Given the description of an element on the screen output the (x, y) to click on. 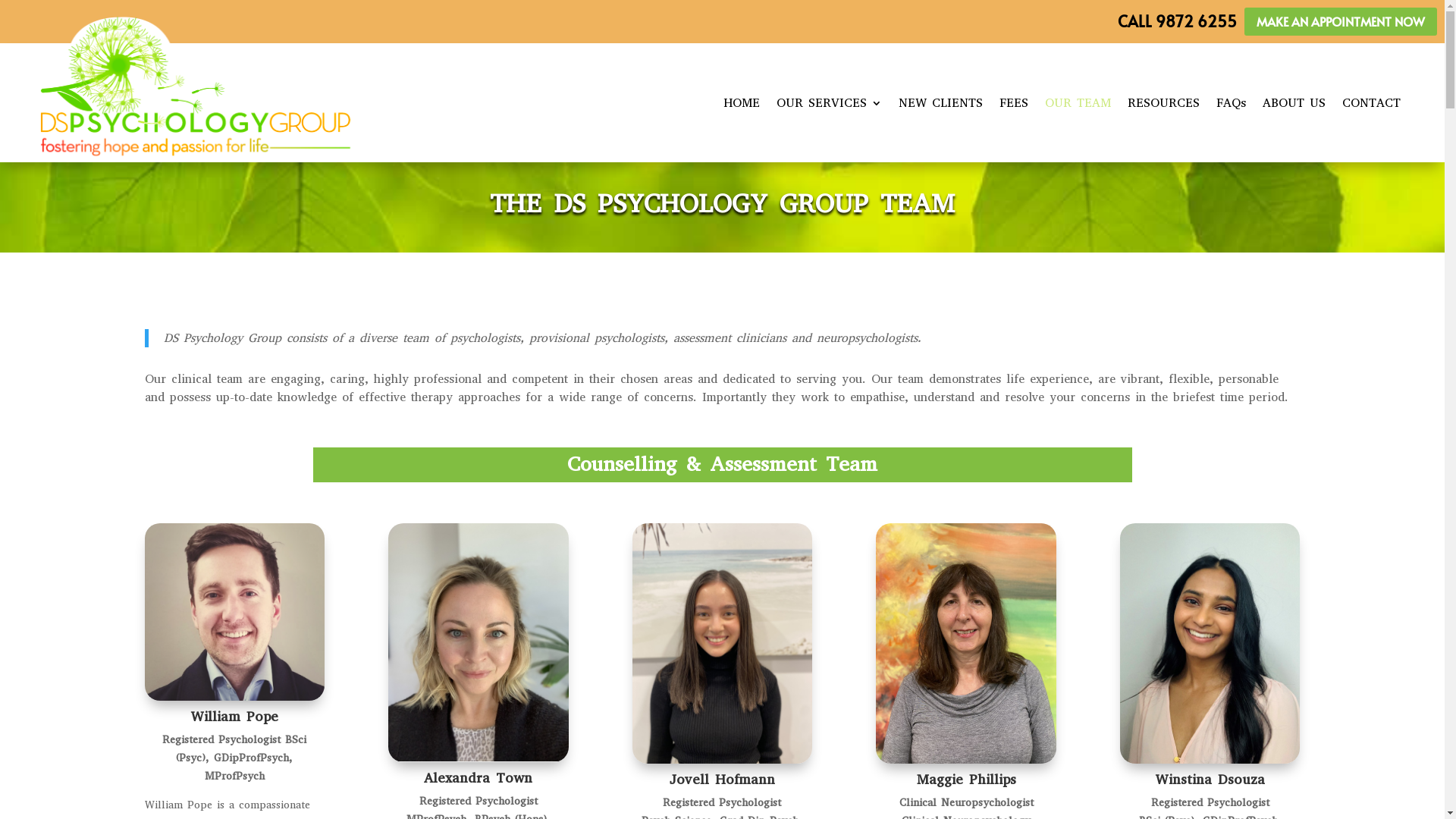
OUR SERVICES Element type: text (828, 103)
CALL 9872 6255 Element type: text (1176, 20)
ABOUT US Element type: text (1293, 103)
OUR TEAM Element type: text (1077, 103)
NEW CLIENTS Element type: text (940, 103)
RESOURCES Element type: text (1163, 103)
MAKE AN APPOINTMENT NOW Element type: text (1340, 21)
CONTACT Element type: text (1371, 103)
FAQs Element type: text (1230, 103)
HOME Element type: text (741, 103)
FEES Element type: text (1013, 103)
